Given the description of an element on the screen output the (x, y) to click on. 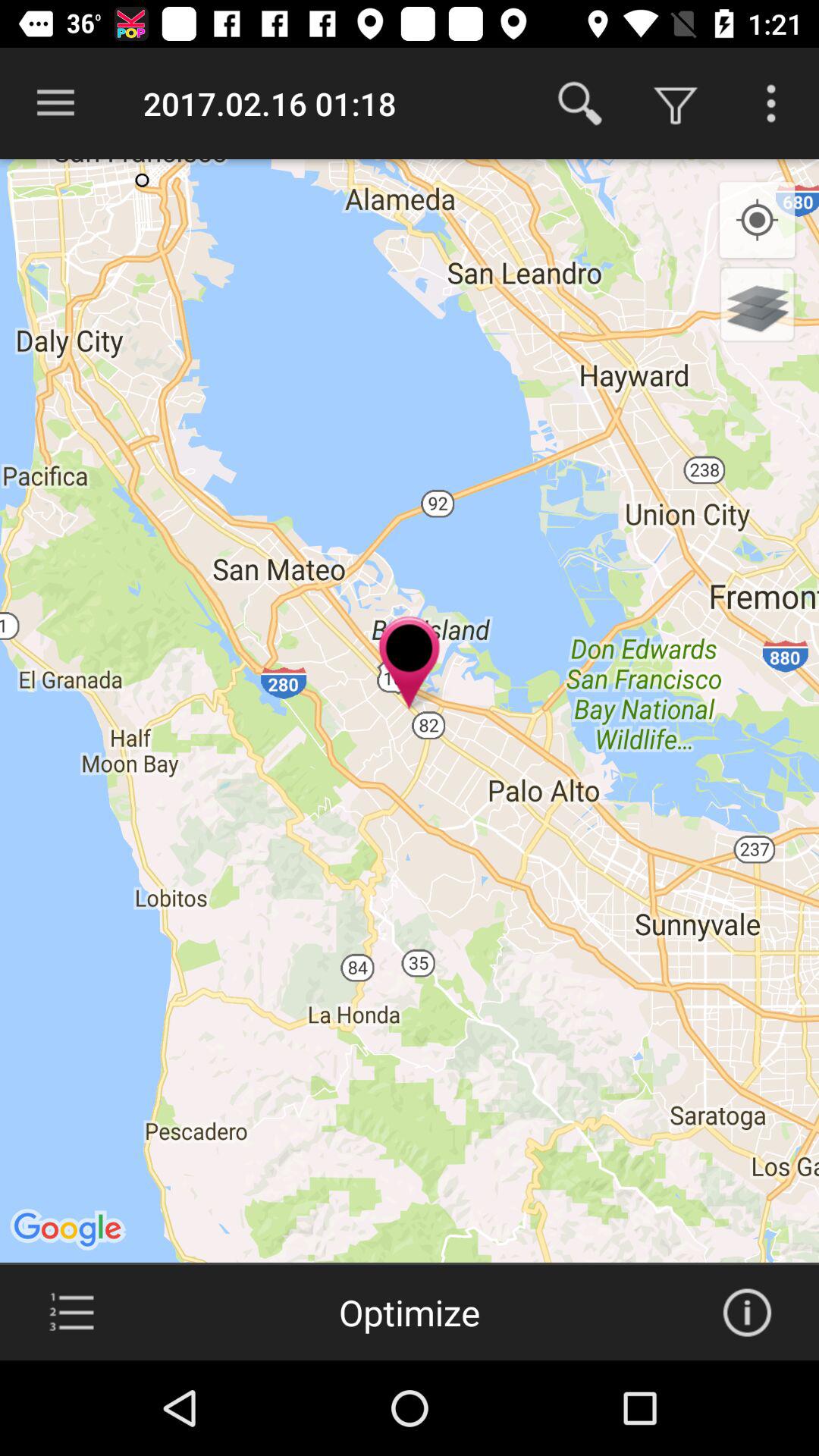
see more map options (771, 103)
